Given the description of an element on the screen output the (x, y) to click on. 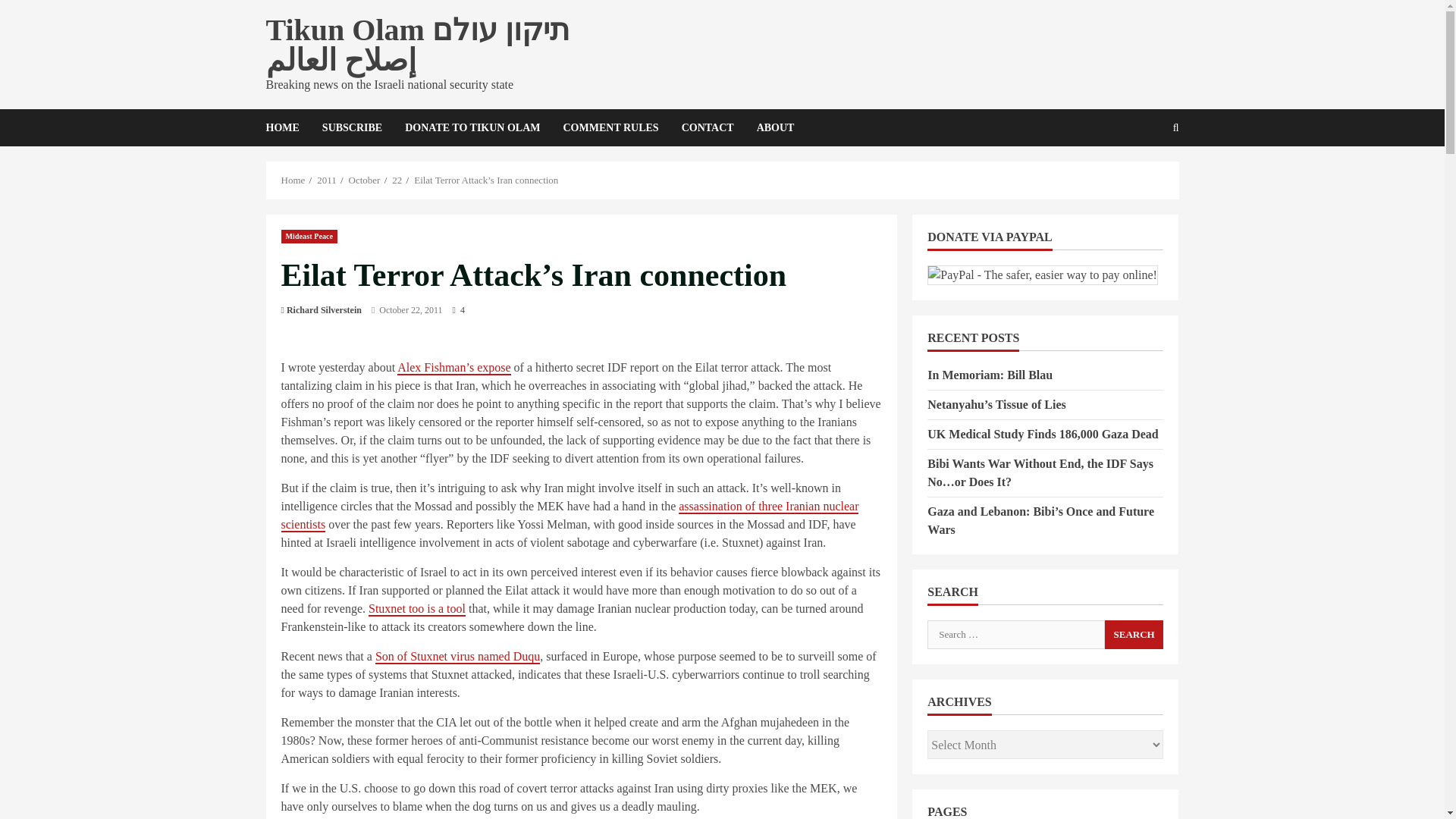
HOME (287, 127)
4 (457, 310)
PayPal - The safer, easier way to pay online! (1042, 275)
October (364, 179)
CONTACT (707, 127)
COMMENT RULES (610, 127)
Mideast Peace (309, 235)
Son of Stuxnet virus named Duqu (457, 657)
assassination of three Iranian nuclear scientists (570, 515)
